Given the description of an element on the screen output the (x, y) to click on. 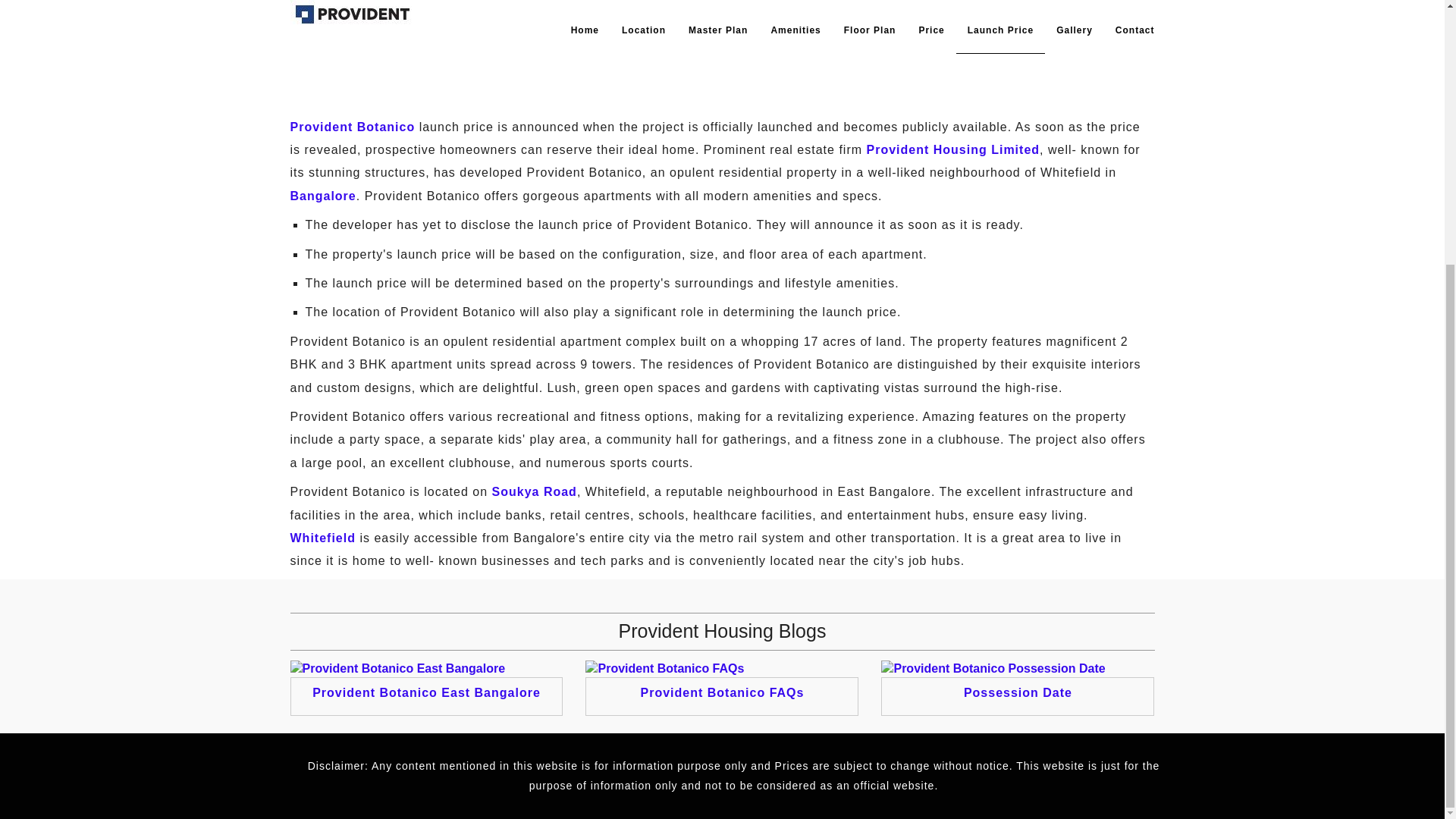
Bangalore (322, 195)
Provident Botanico (351, 126)
Soukya Road (534, 491)
Provident Botanico East Bangalore (426, 692)
Provident Housing Limited (952, 149)
Provident Botanico East Bangalore (397, 667)
Provident Botanico FAQs (722, 692)
Soukya Road (534, 491)
Provident Botanico (351, 126)
Possession Date (1017, 692)
Provident Botanico FAQs (664, 667)
Provident Botanico Launch Price (739, 49)
Bangalore (322, 195)
Provident Botanico FAQs (722, 692)
Provident Housing Limited (952, 149)
